Given the description of an element on the screen output the (x, y) to click on. 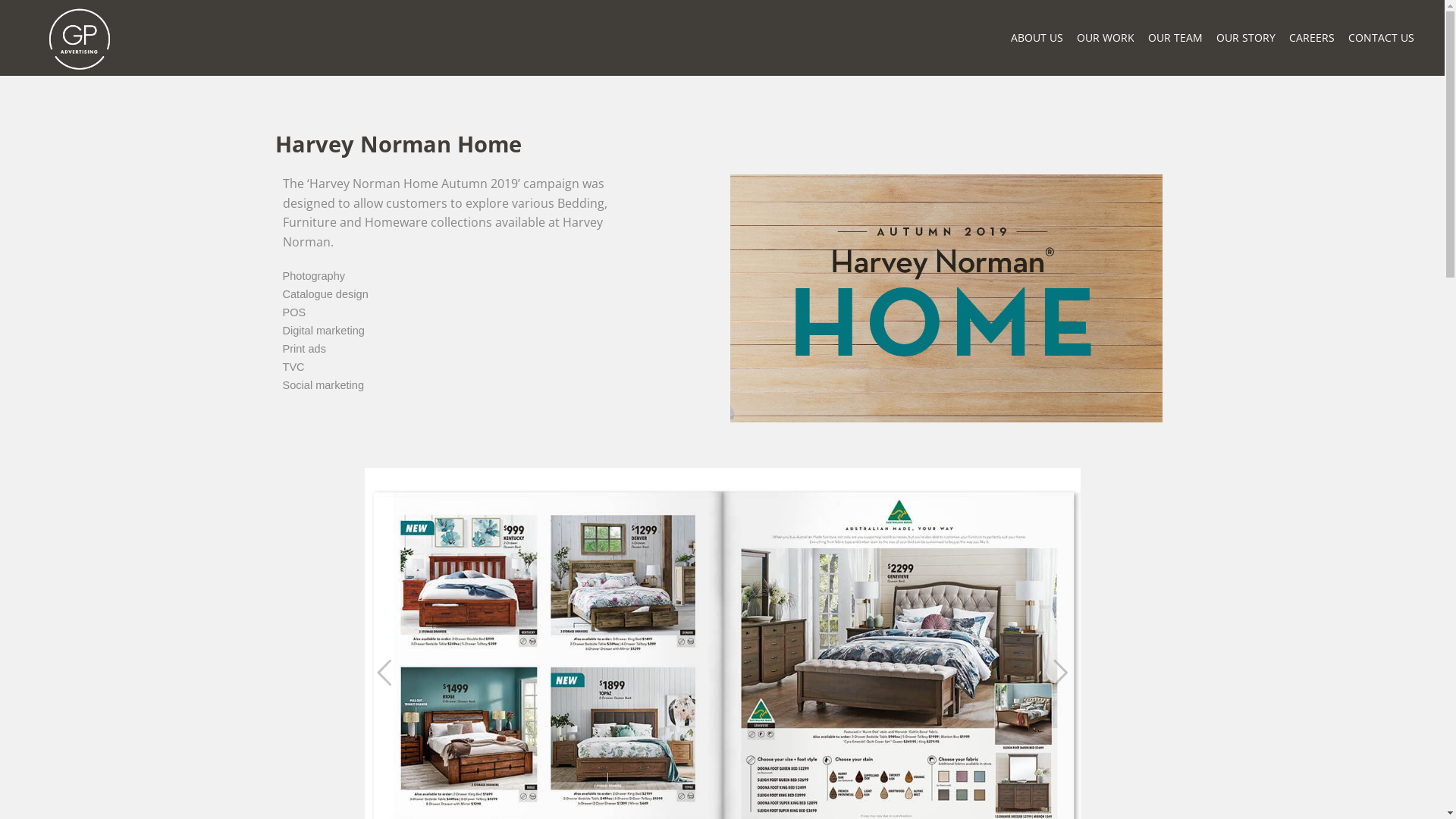
OUR WORK Element type: text (1105, 37)
OUR STORY Element type: text (1245, 37)
CONTACT US Element type: text (1381, 37)
CAREERS Element type: text (1311, 37)
OUR TEAM Element type: text (1175, 37)
ABOUT US Element type: text (1036, 37)
